Given the description of an element on the screen output the (x, y) to click on. 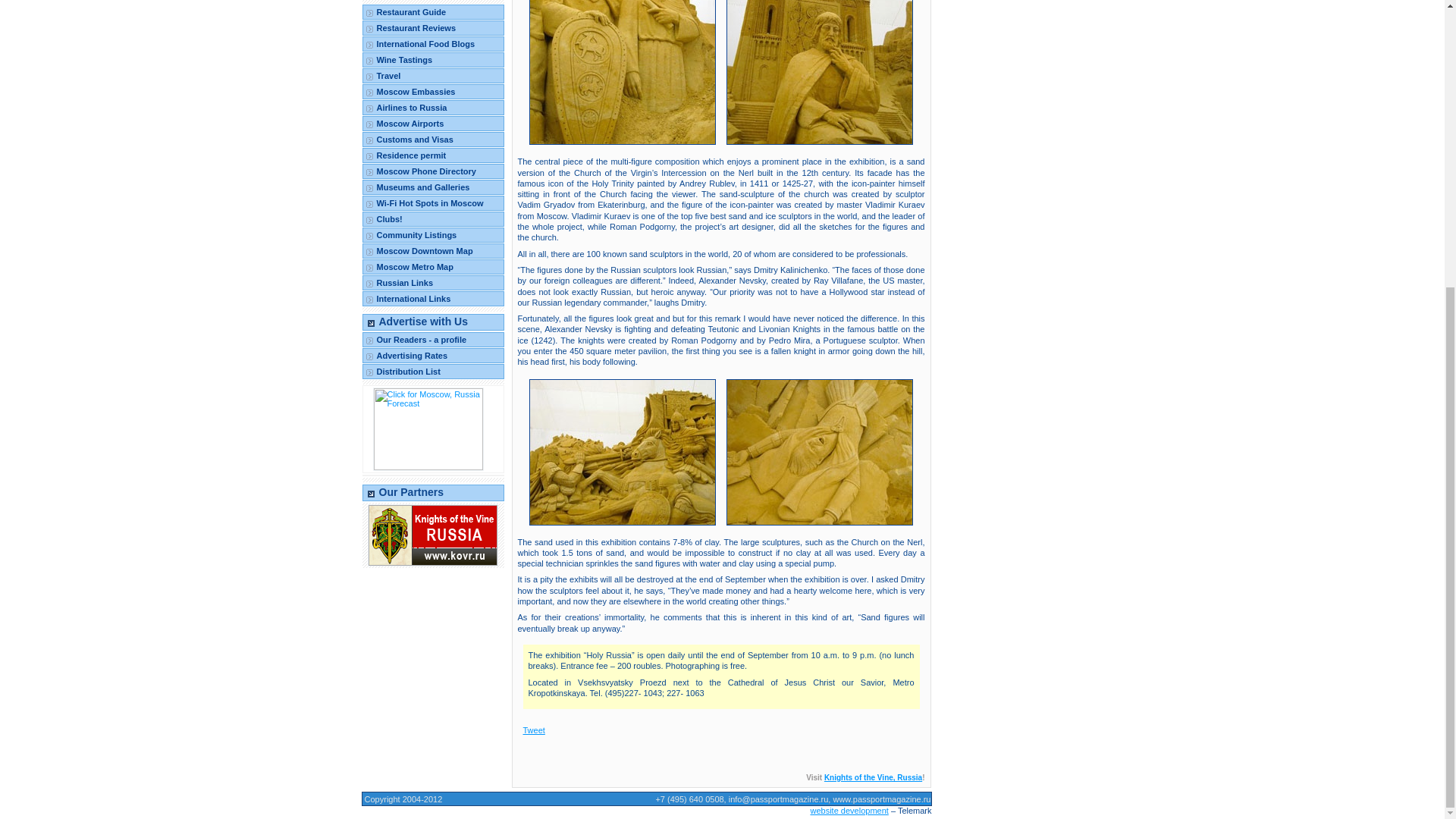
Travel (432, 75)
Community Listings (432, 234)
Customs and Visas (432, 139)
Moscow Downtown Map (432, 250)
Moscow Phone Directory (432, 171)
website development (848, 809)
Wi-Fi Hot Spots in Moscow (432, 202)
Our Partners (432, 492)
Restaurant Reviews (432, 28)
Wine Tastings (432, 59)
Advertisement (430, 625)
Tweet (533, 729)
International Links (432, 298)
International Food Blogs (432, 43)
Restaurant Guide (432, 11)
